Given the description of an element on the screen output the (x, y) to click on. 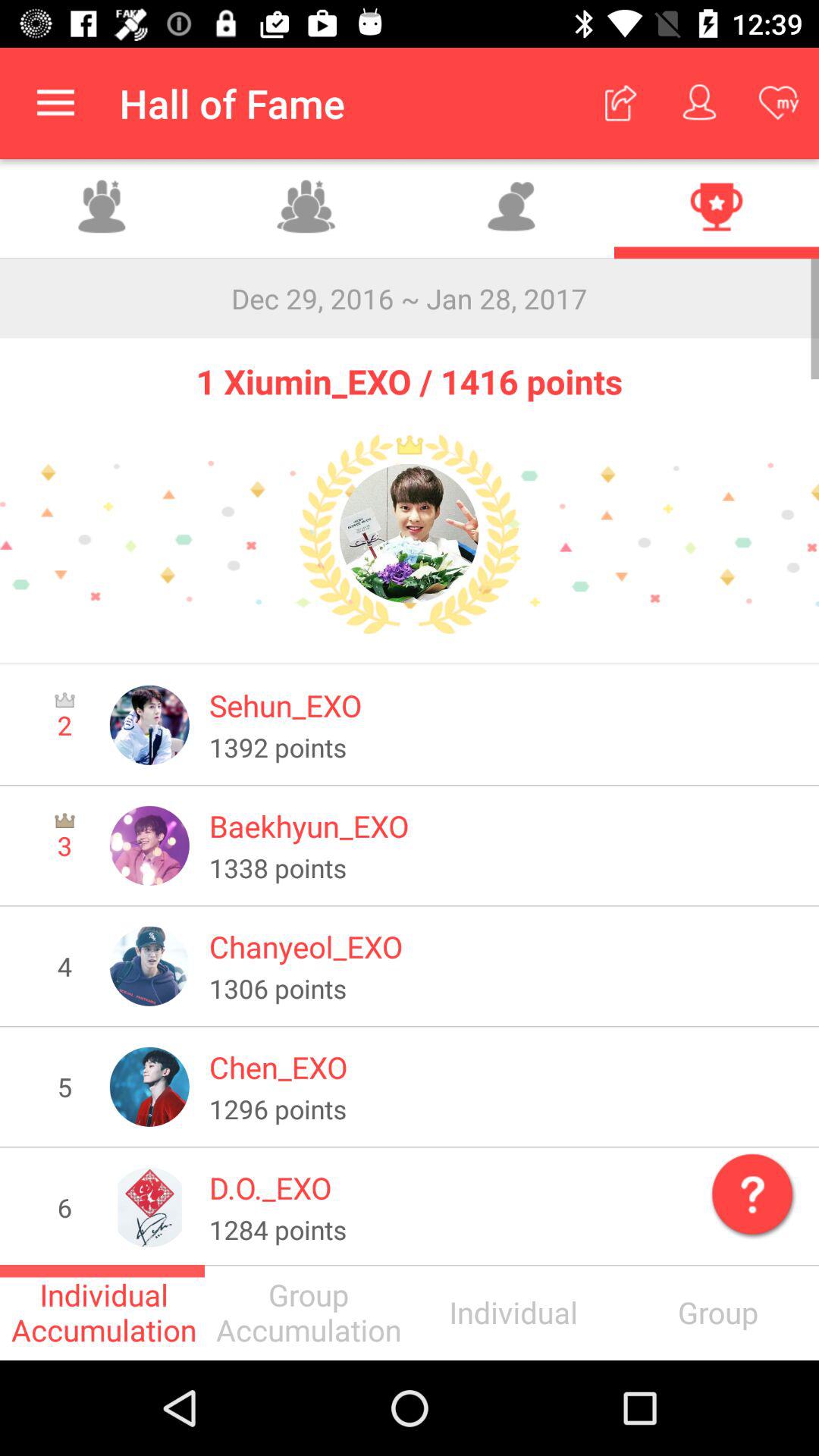
open d.o._exo item (504, 1187)
